Given the description of an element on the screen output the (x, y) to click on. 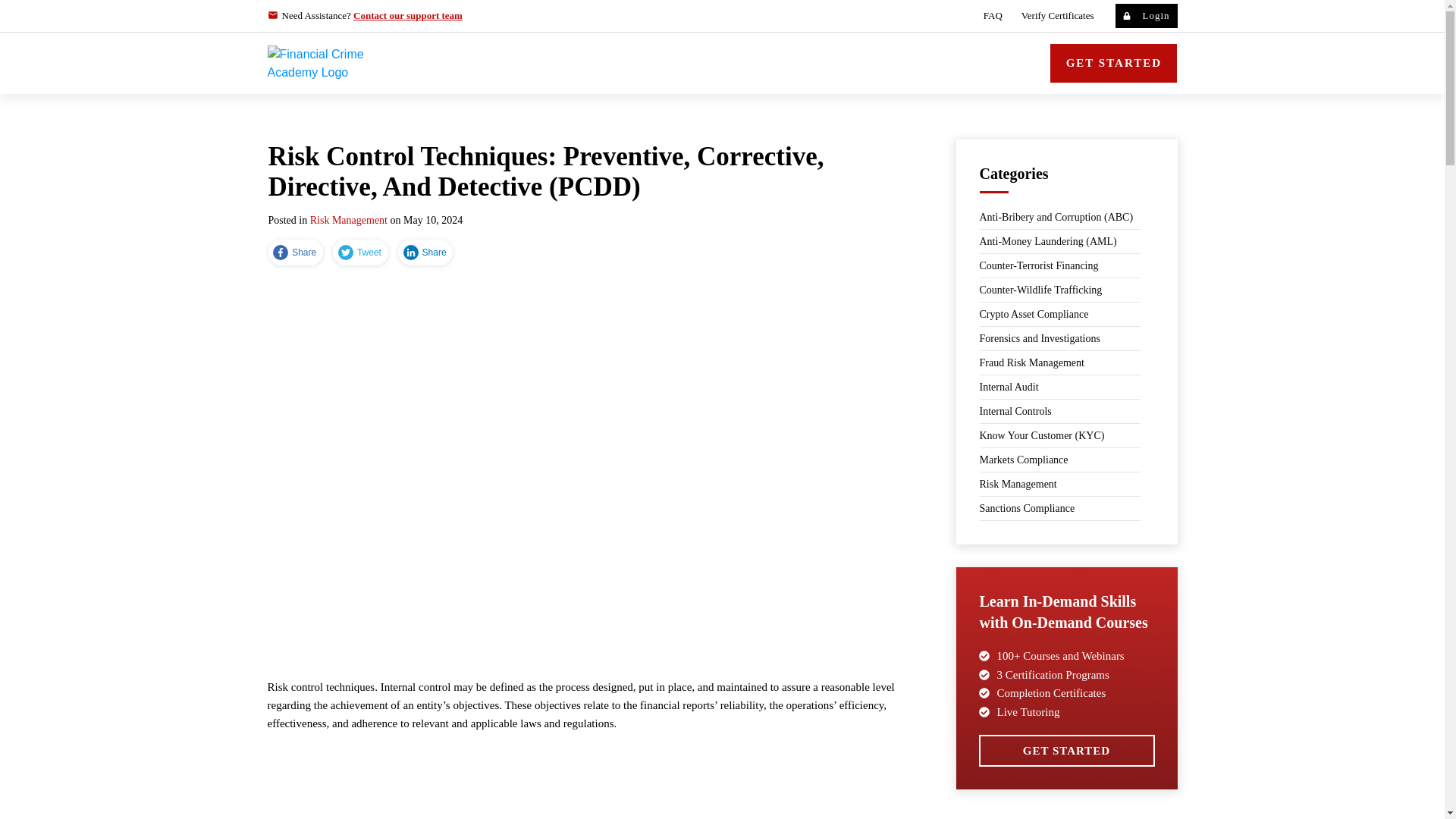
Login (1145, 15)
Verify Certificates (1058, 15)
Contact our support team (408, 15)
Risk Management (348, 220)
FAQ (993, 15)
